Given the description of an element on the screen output the (x, y) to click on. 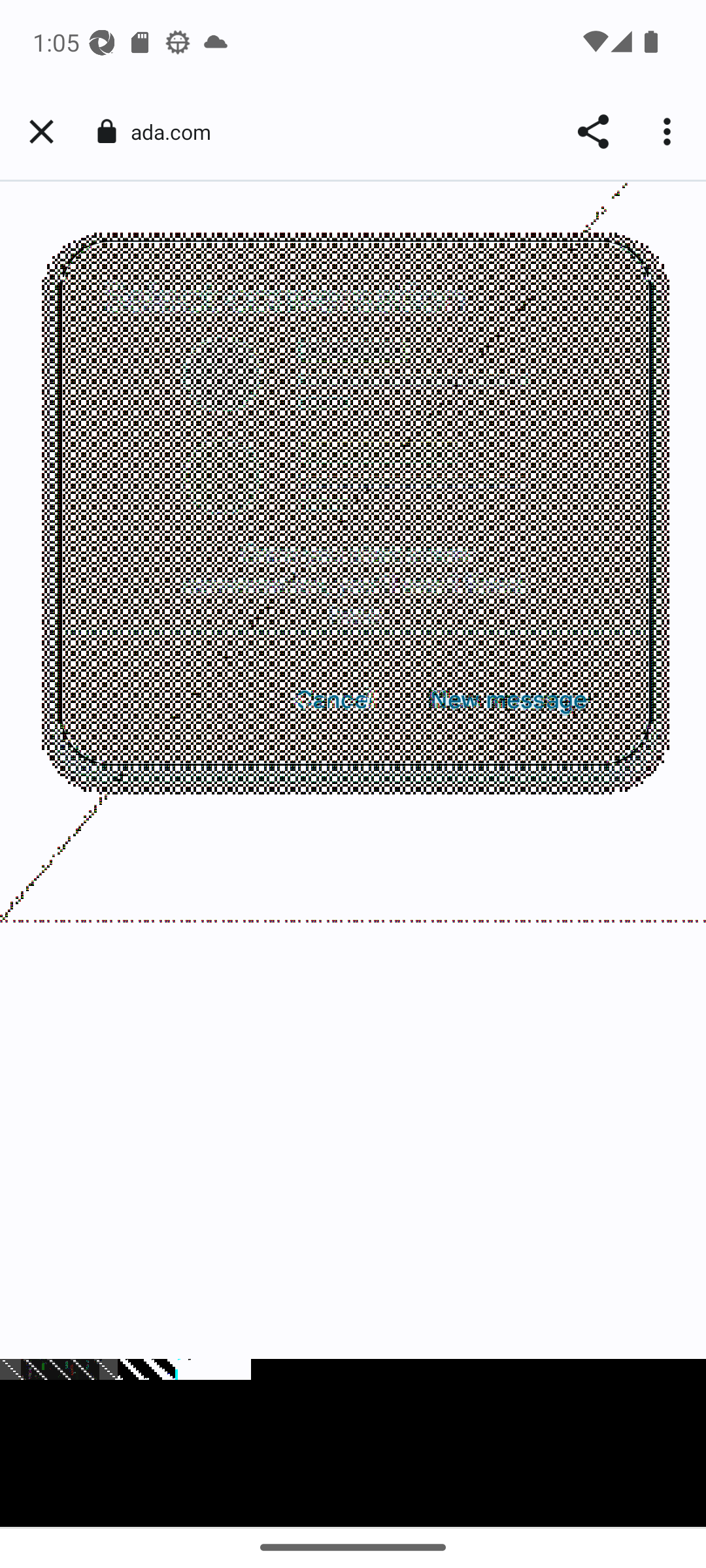
Close tab (41, 131)
Share (592, 131)
More options (669, 131)
Connection is secure (106, 131)
ada.com (177, 131)
